Given the description of an element on the screen output the (x, y) to click on. 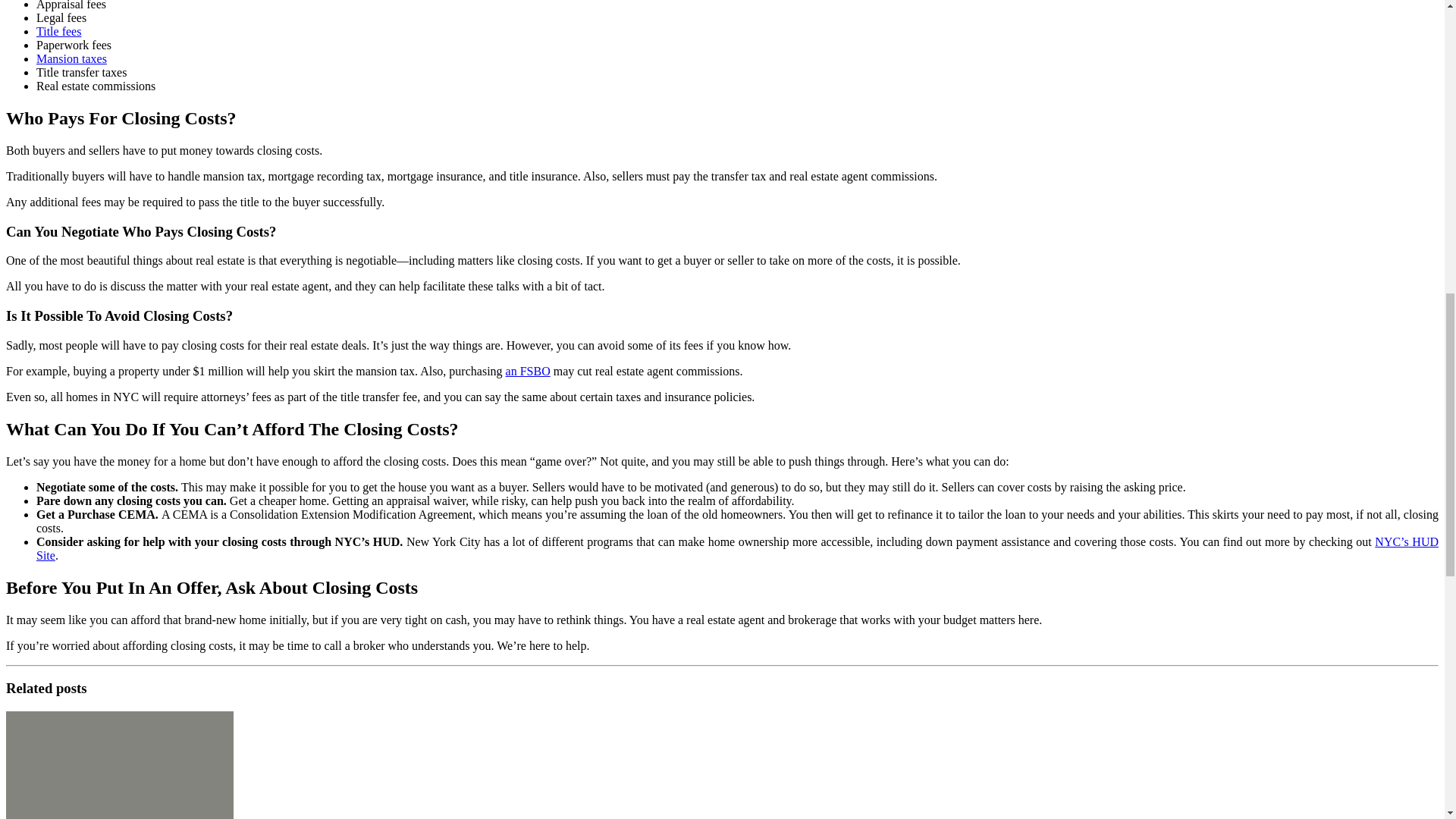
Mansion taxes (71, 58)
Title fees (58, 31)
an FSBO (527, 370)
